Given the description of an element on the screen output the (x, y) to click on. 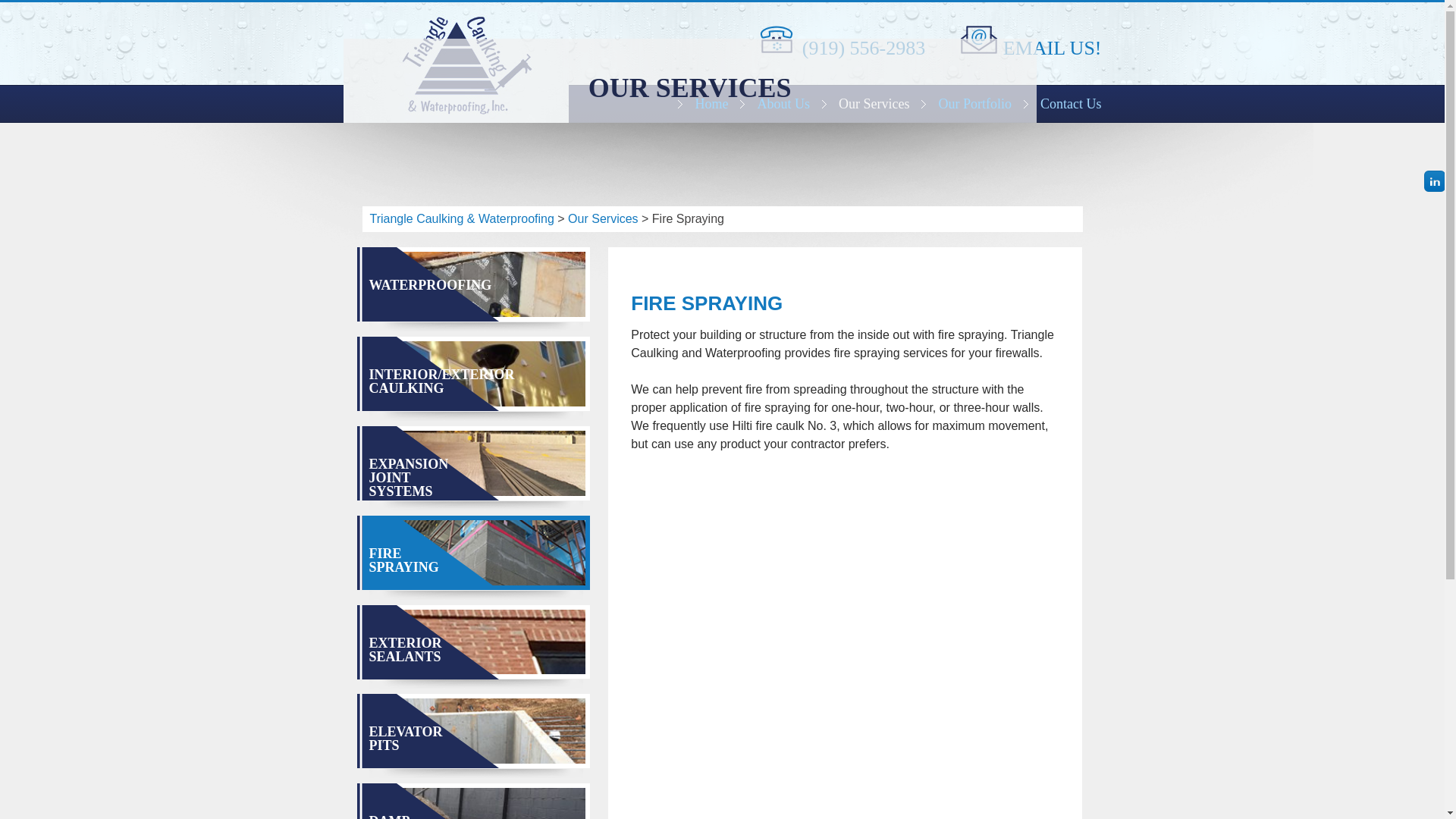
DAMP PROOFING (405, 816)
ELEVATOR PITS (405, 737)
EMAIL US! (1052, 44)
WATERPROOFING (430, 284)
EXPANSION JOINT SYSTEMS (408, 477)
Triangle Caulking (454, 62)
Our Portfolio (972, 103)
EXTERIOR SEALANTS (404, 649)
Our Services (871, 103)
About Us (780, 103)
Our Services (602, 218)
Home (708, 103)
Contact Us (1062, 103)
Go to the Our Services Service Category archives. (602, 218)
